Given the description of an element on the screen output the (x, y) to click on. 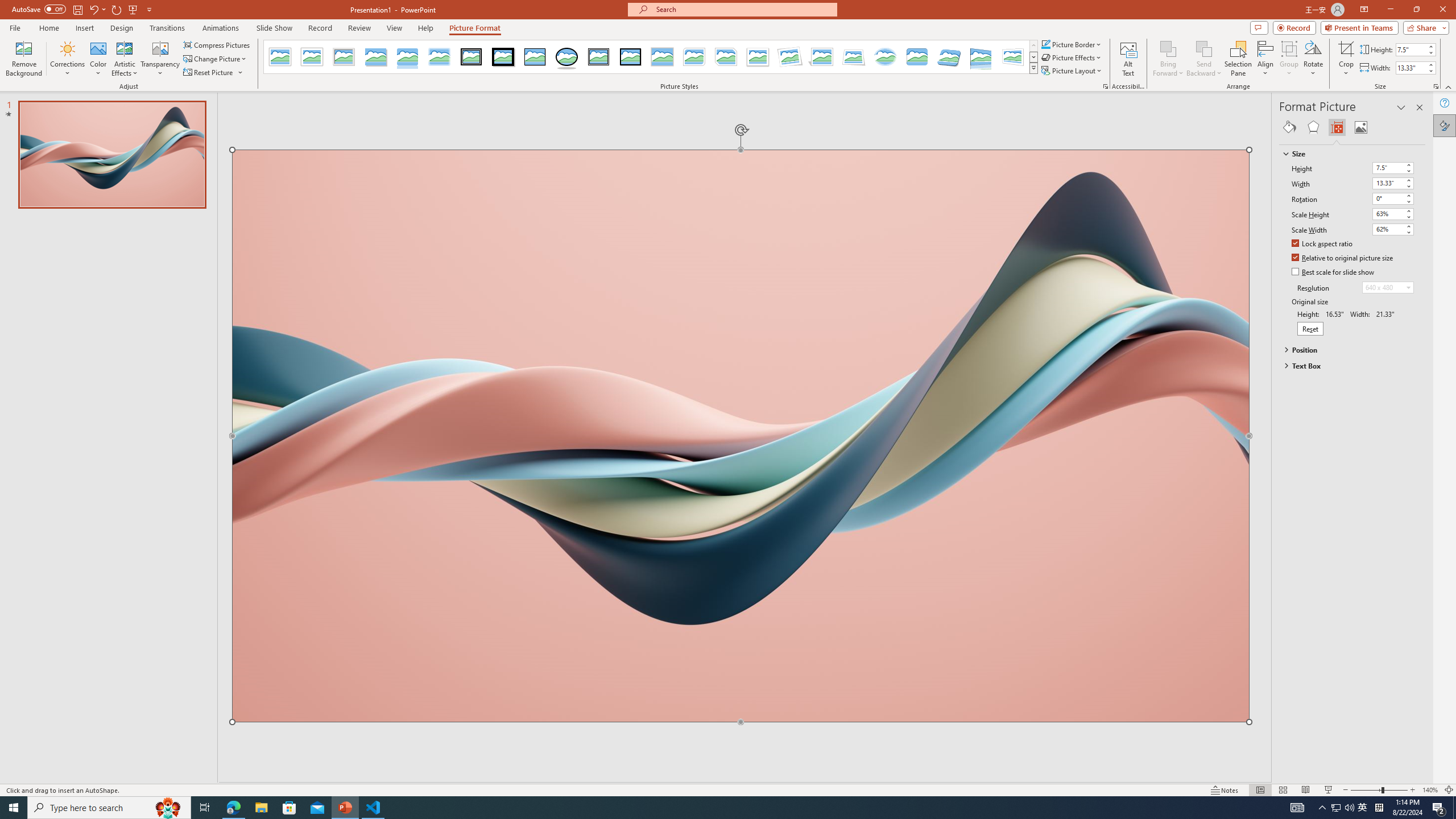
Corrections (67, 58)
